Given the description of an element on the screen output the (x, y) to click on. 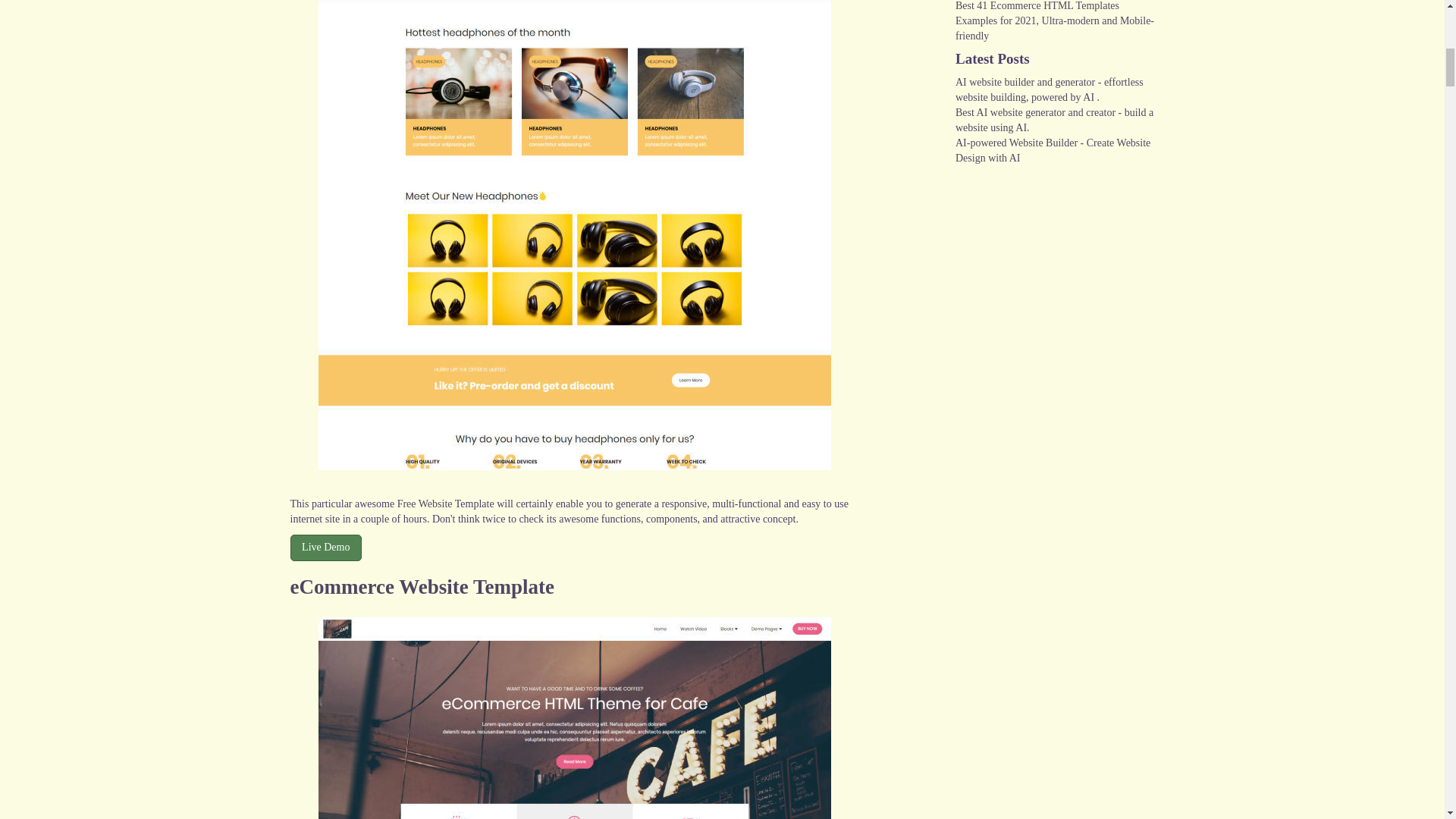
Live Demo (325, 546)
Free Website (424, 503)
eCommerce Website Template (421, 586)
